Given the description of an element on the screen output the (x, y) to click on. 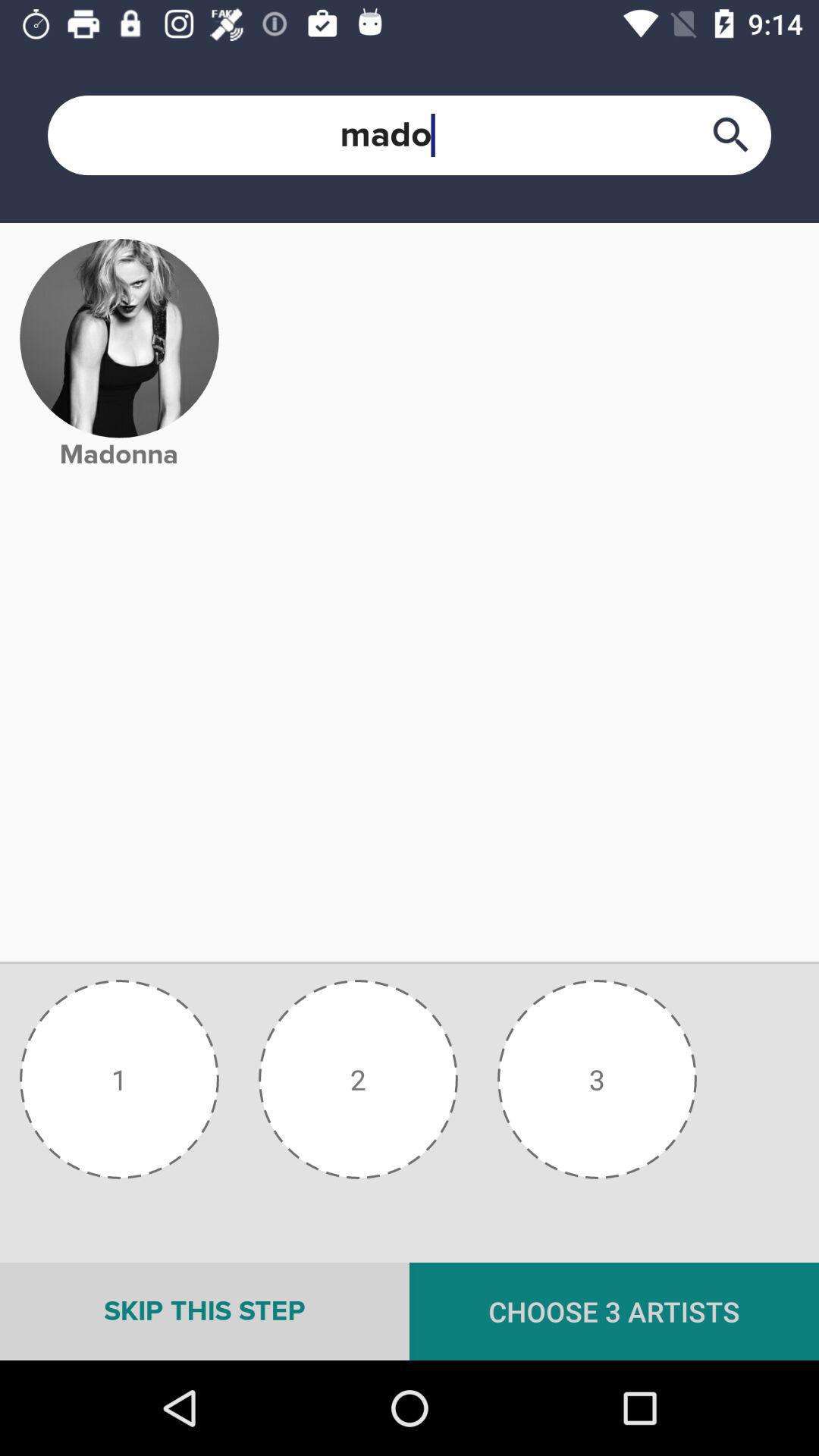
press skip this step (204, 1311)
